Given the description of an element on the screen output the (x, y) to click on. 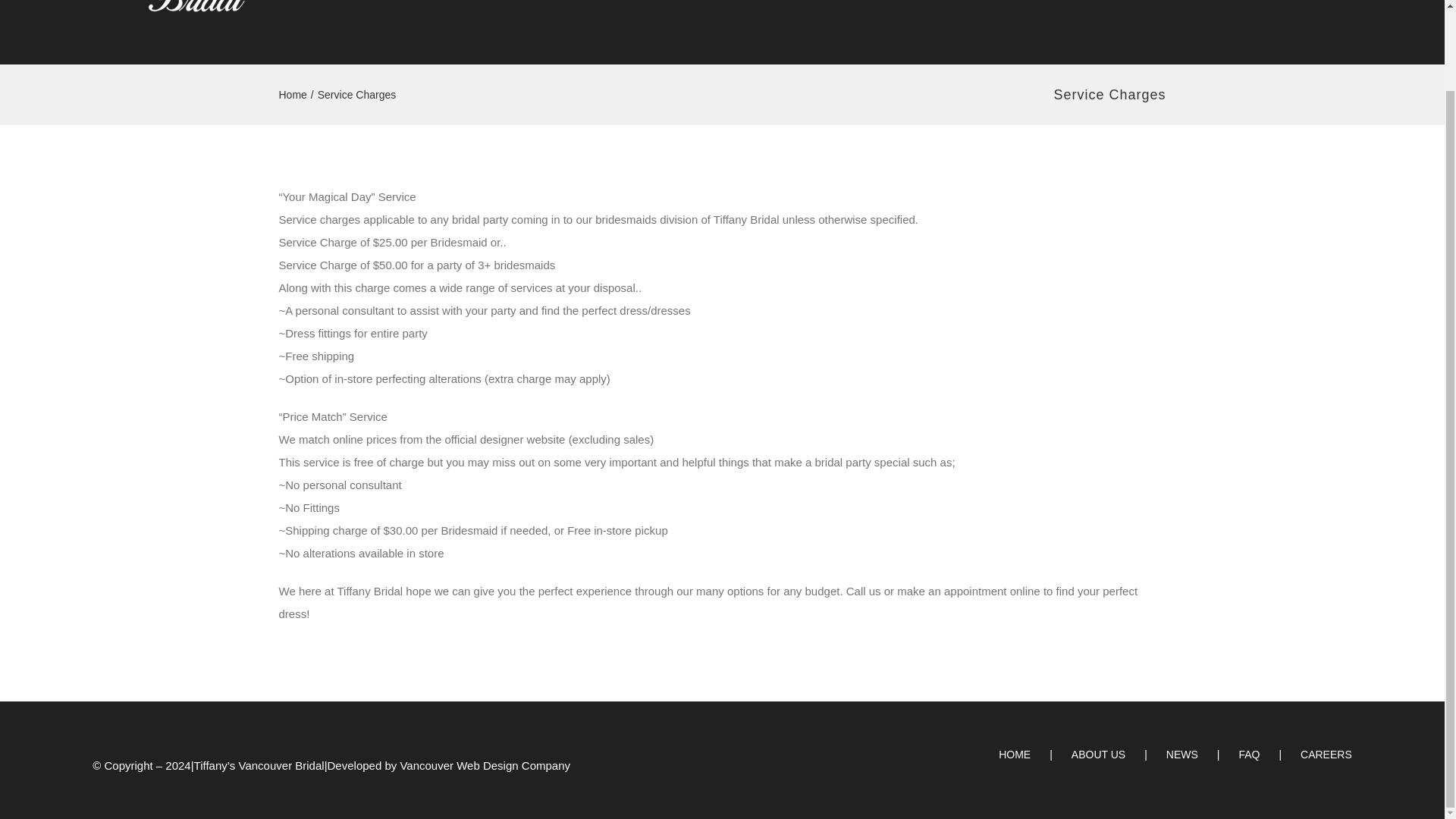
Vancouver Web Design Company (484, 765)
Home (293, 94)
NEWS (1155, 14)
FAQ (1269, 753)
MAKE AN APPOINTMENT (1276, 14)
ABOUT (799, 14)
HOME (1034, 753)
NEWS (1202, 753)
CAREERS (1326, 753)
REAL BRIDES (1067, 14)
SERVICES (965, 14)
ABOUT US (1118, 753)
GALLERY (876, 14)
HOME (731, 14)
